Given the description of an element on the screen output the (x, y) to click on. 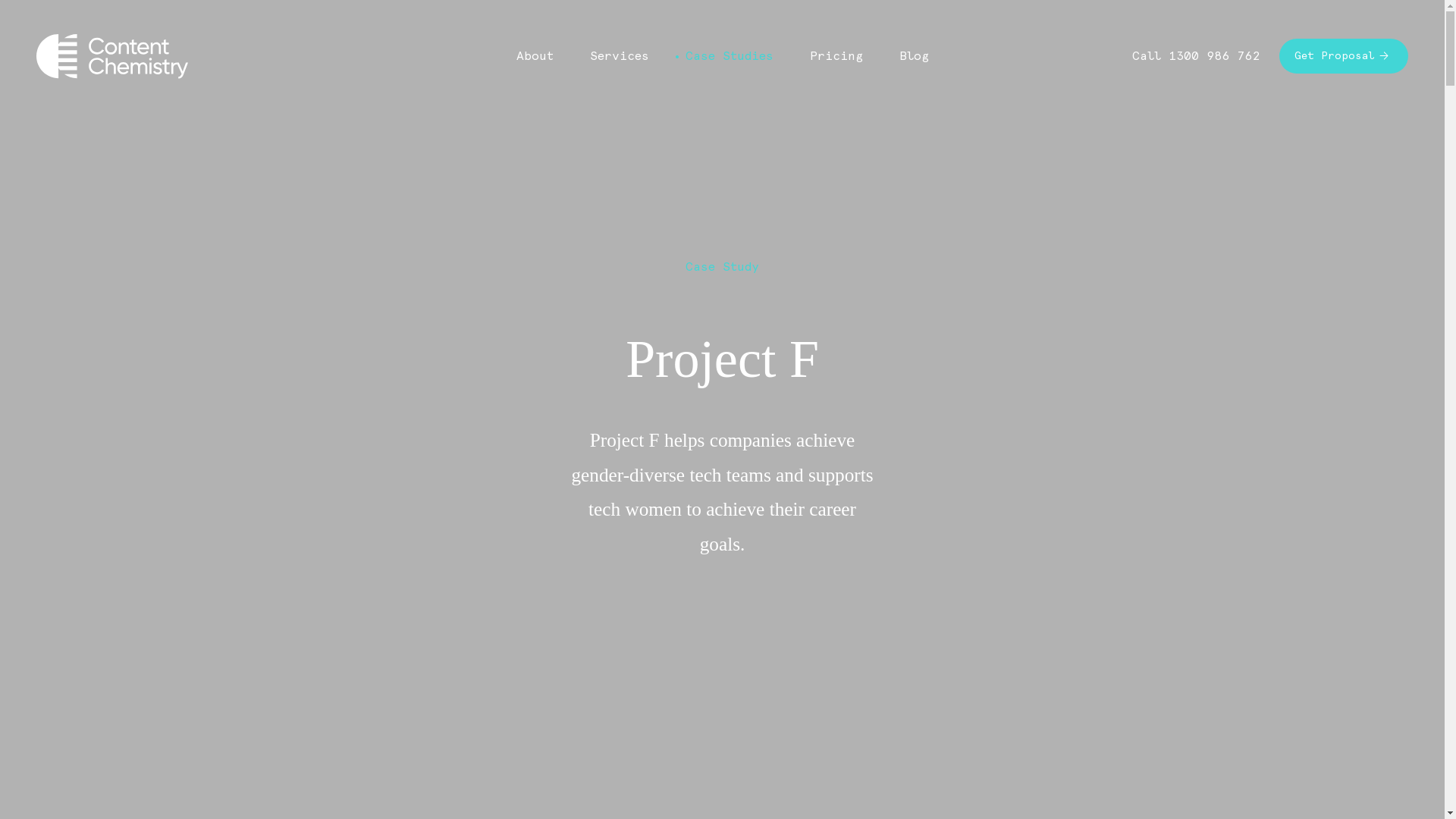
Call 1300 986 762 Element type: text (1195, 56)
Blog Element type: text (913, 56)
Get Proposal Element type: text (1343, 55)
Services Element type: text (619, 56)
Pricing Element type: text (835, 56)
About Element type: text (533, 56)
Case Studies Element type: text (729, 56)
